Given the description of an element on the screen output the (x, y) to click on. 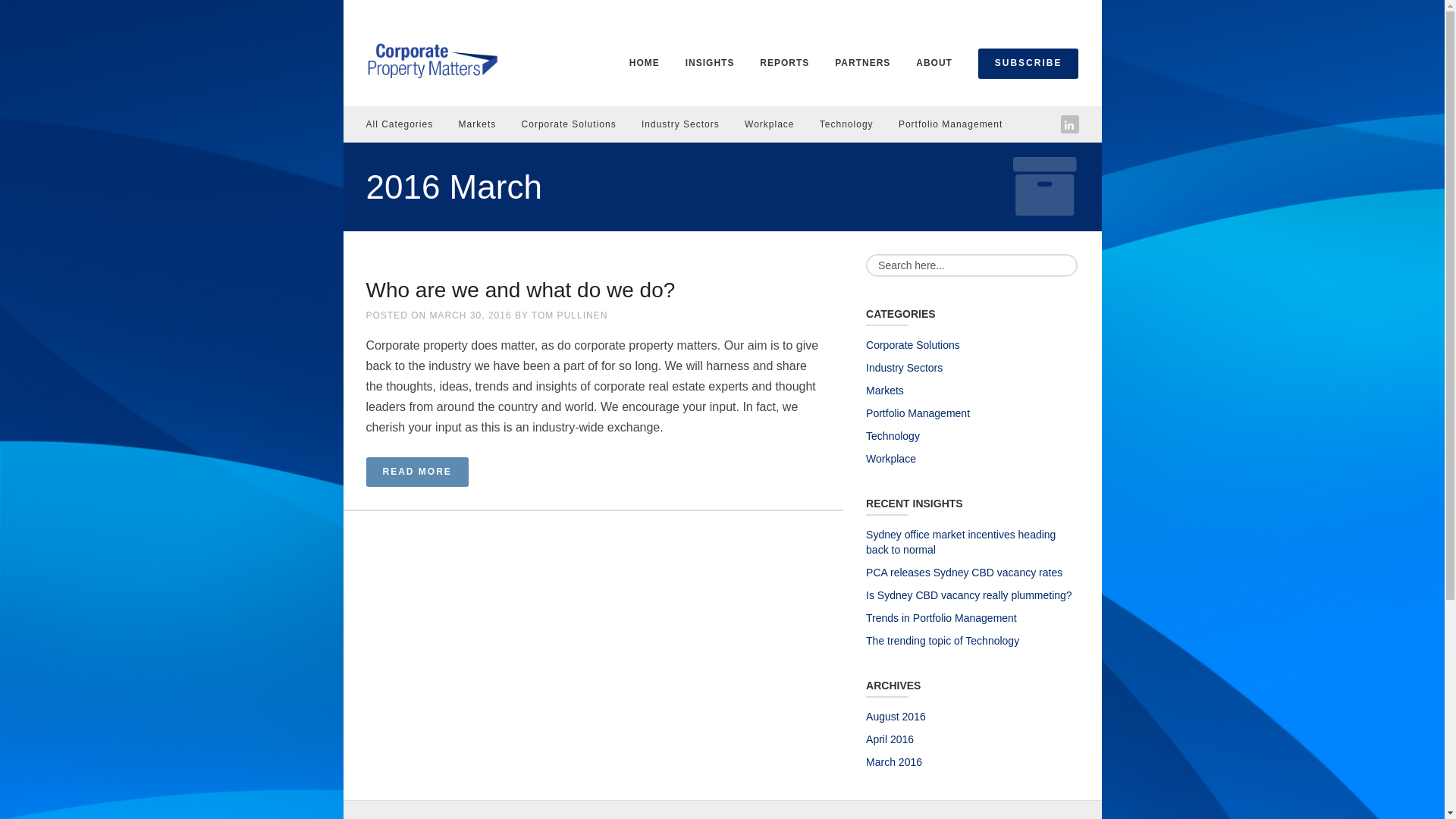
Corporate Property Matters Element type: hover (431, 58)
Workplace Element type: text (768, 124)
Markets Element type: text (884, 390)
Corporate Solutions Element type: text (913, 344)
HOME Element type: text (644, 62)
TOM PULLINEN Element type: text (569, 315)
Technology Element type: text (846, 124)
Trends in Portfolio Management Element type: text (941, 617)
PCA releases Sydney CBD vacancy rates Element type: text (964, 572)
READ MORE Element type: text (416, 471)
Is Sydney CBD vacancy really plummeting? Element type: text (969, 595)
Portfolio Management Element type: text (950, 124)
August 2016 Element type: text (895, 716)
REPORTS Element type: text (784, 62)
Industry Sectors Element type: text (904, 367)
Corporate Solutions Element type: text (568, 124)
Technology Element type: text (892, 435)
PARTNERS Element type: text (862, 62)
March 2016 Element type: text (894, 762)
ABOUT Element type: text (934, 62)
Sydney office market incentives heading back to normal Element type: text (960, 541)
Portfolio Management Element type: text (917, 413)
Markets Element type: text (477, 124)
SUBSCRIBE Element type: text (1028, 63)
The trending topic of Technology Element type: text (942, 640)
Who are we and what do we do? Element type: text (519, 289)
April 2016 Element type: text (889, 739)
All Categories Element type: text (399, 124)
Industry Sectors Element type: text (680, 124)
Workplace Element type: text (891, 458)
INSIGHTS Element type: text (709, 62)
